Given the description of an element on the screen output the (x, y) to click on. 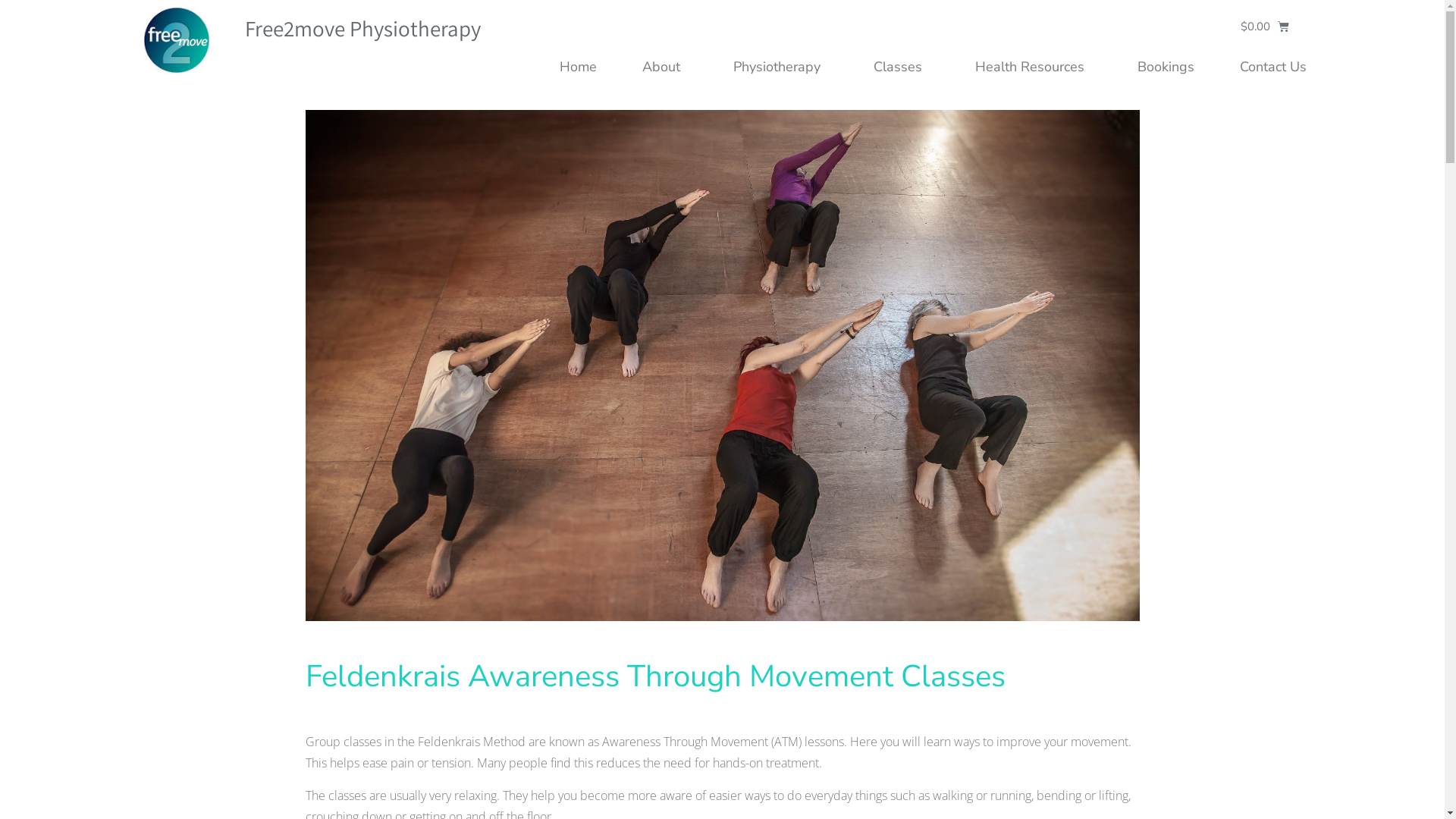
Contact Us Element type: text (1272, 66)
Classes Element type: text (901, 66)
Bookings Element type: text (1165, 66)
About Element type: text (663, 66)
Physiotherapy Element type: text (779, 66)
$0.00 Element type: text (1264, 26)
Health Resources Element type: text (1033, 66)
Home Element type: text (577, 66)
